Given the description of an element on the screen output the (x, y) to click on. 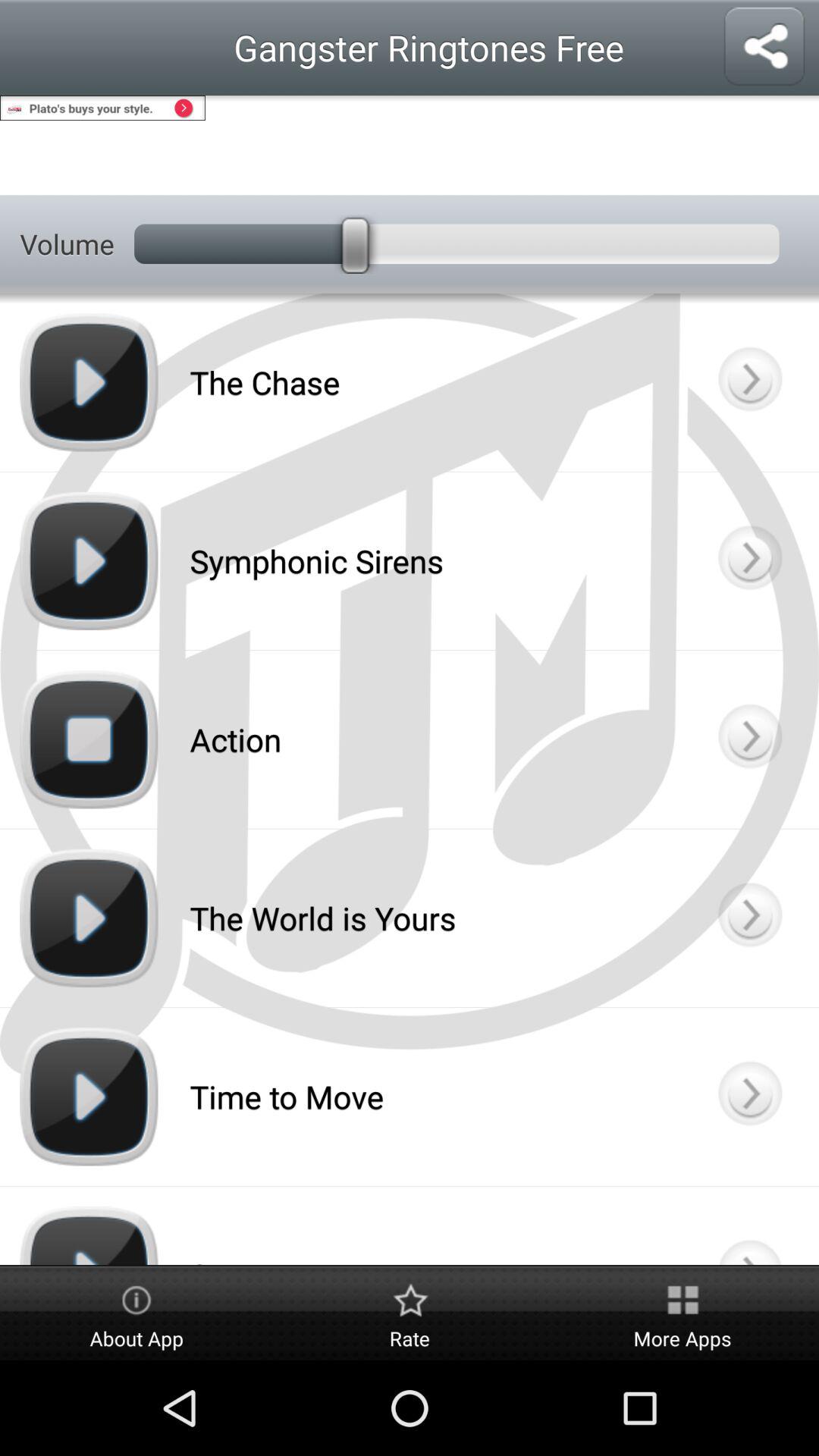
forward (749, 561)
